Given the description of an element on the screen output the (x, y) to click on. 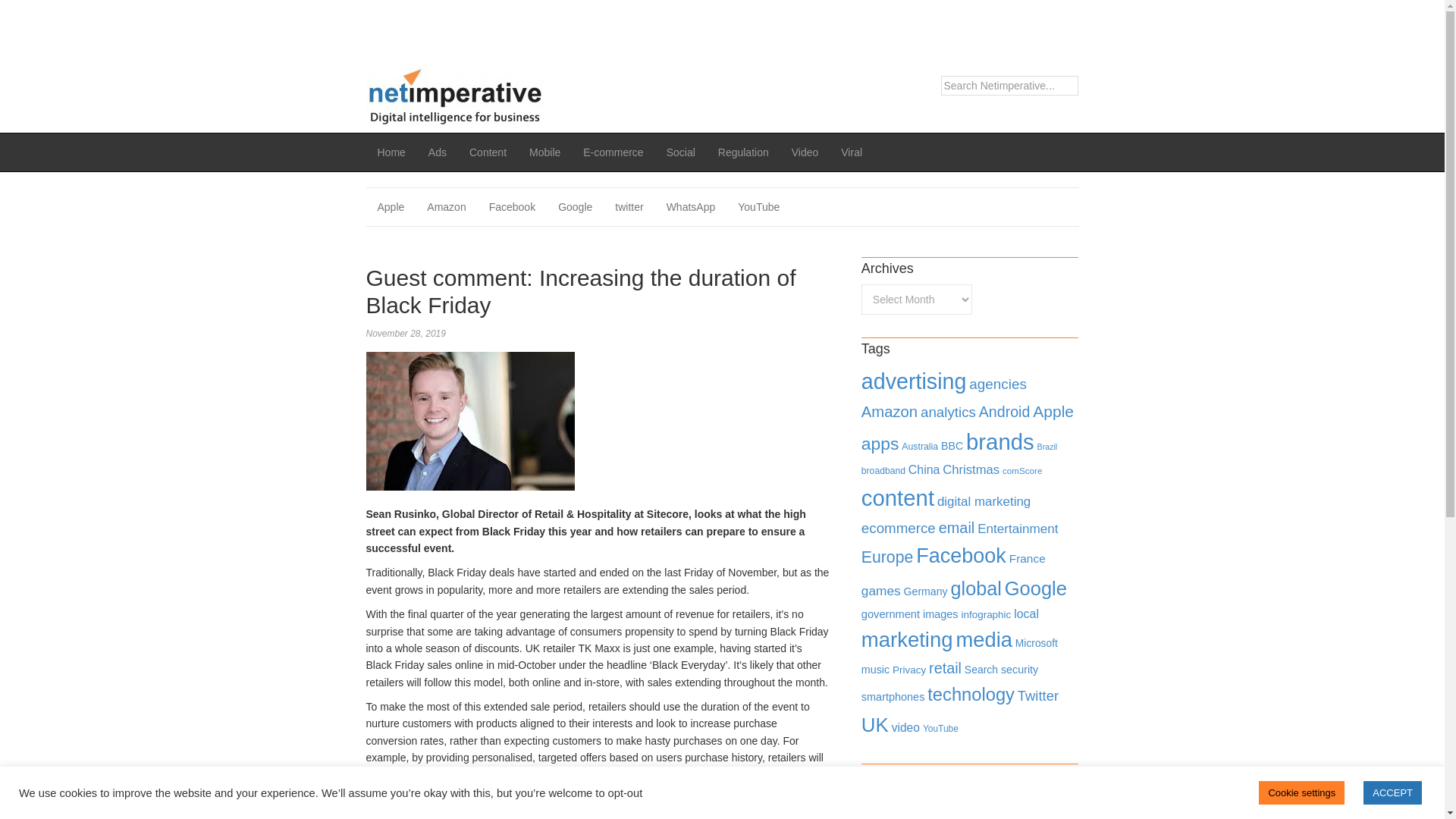
Apple (1053, 411)
Australia (919, 446)
Viral (851, 152)
Android (1003, 411)
Google (575, 207)
Facebook (512, 207)
analytics (947, 412)
agencies (997, 383)
Brazil (1047, 446)
